Given the description of an element on the screen output the (x, y) to click on. 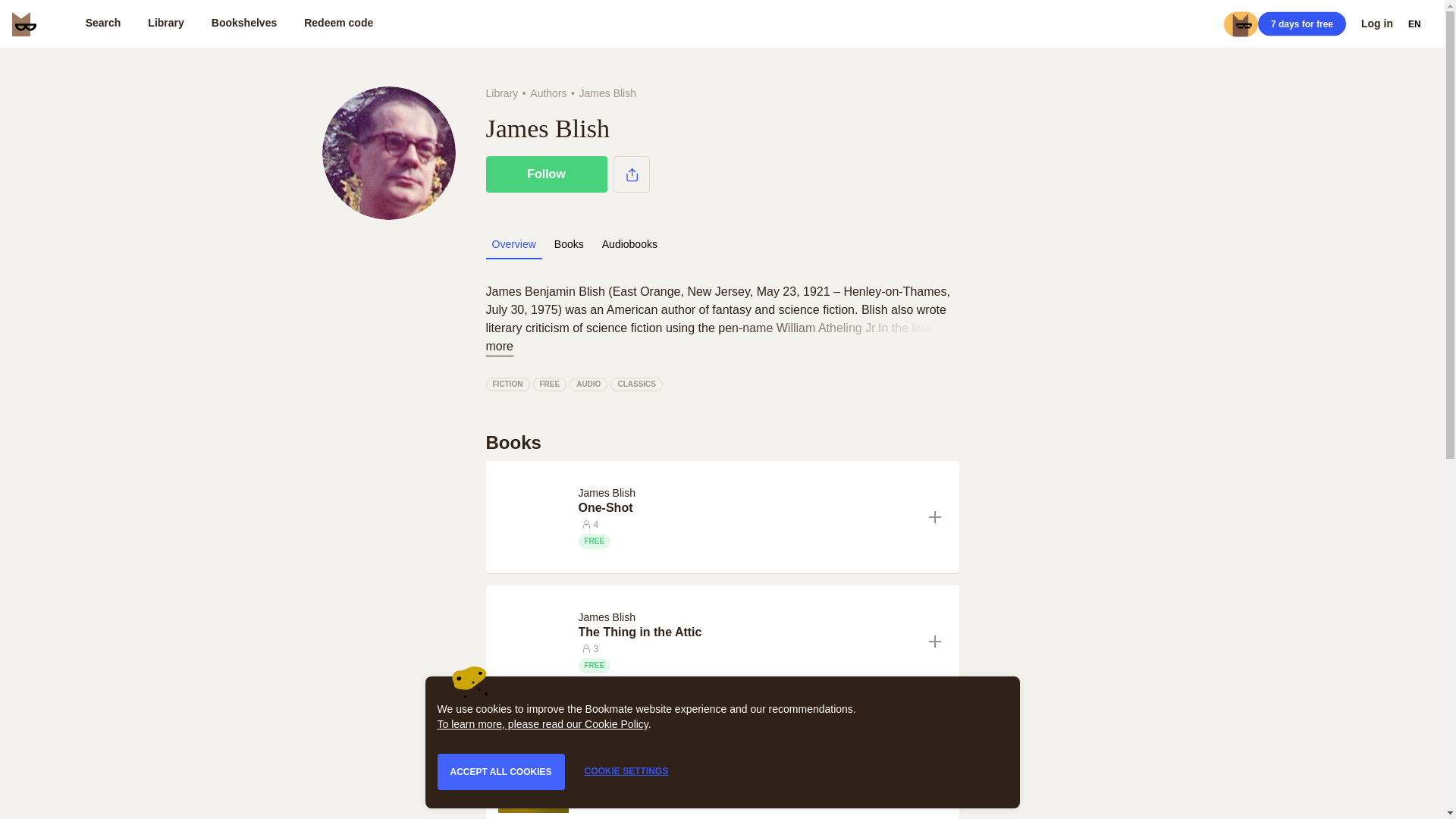
Bookshelves (244, 24)
James Blish (609, 616)
Redeem code (338, 24)
James Blish (608, 750)
AUDIO (588, 384)
OverviewBooksAudiobooks (576, 244)
To learn more, please read our Cookie Policy (541, 724)
Books (568, 244)
OverviewBooksAudiobooks (721, 248)
The Thing in the Attic (746, 631)
